Given the description of an element on the screen output the (x, y) to click on. 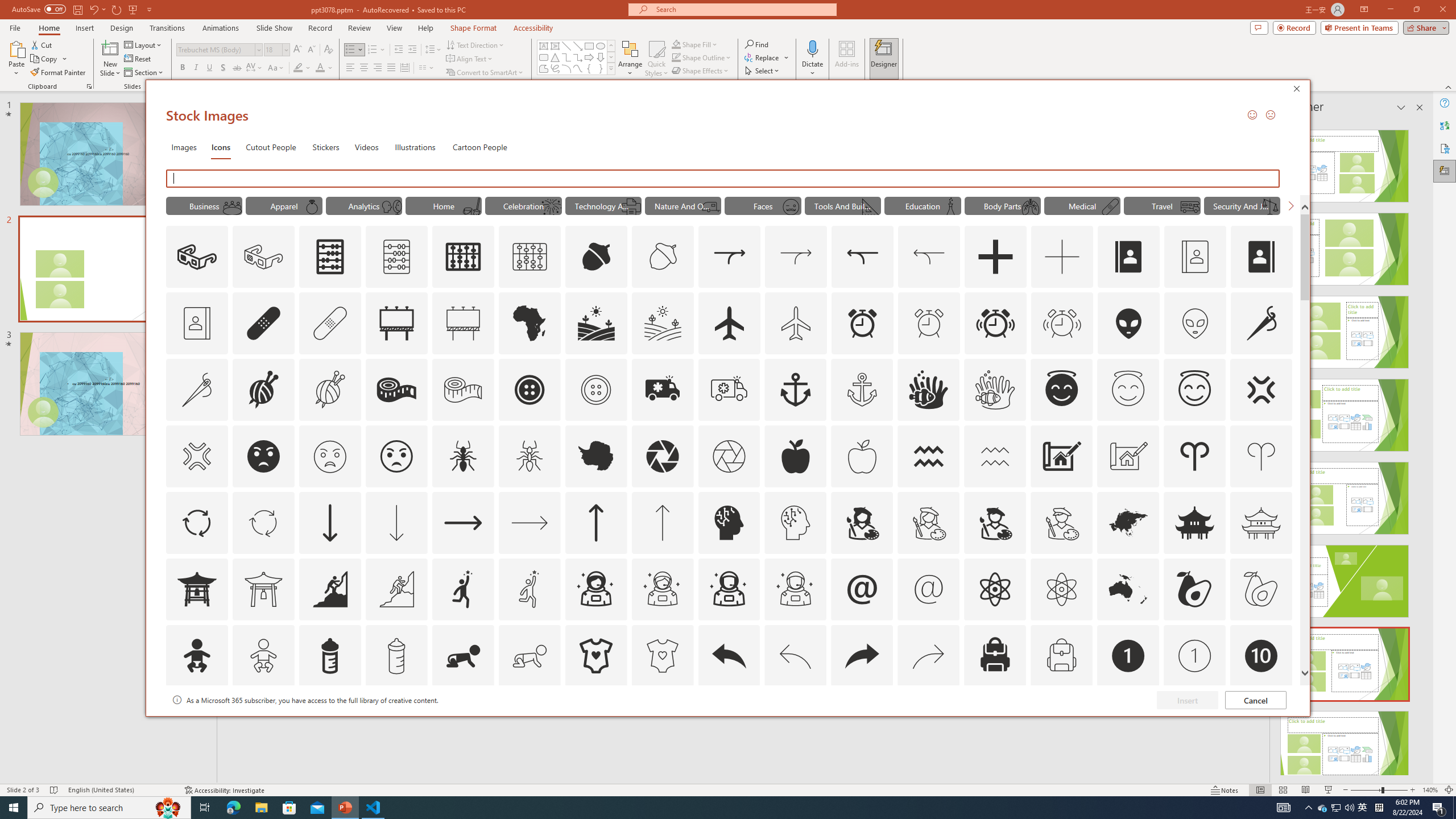
Shape Format (473, 28)
Layout (143, 44)
"Home" Icons. (443, 205)
Send a Frown (1269, 114)
AutomationID: Icons_Abacus_M (397, 256)
